Given the description of an element on the screen output the (x, y) to click on. 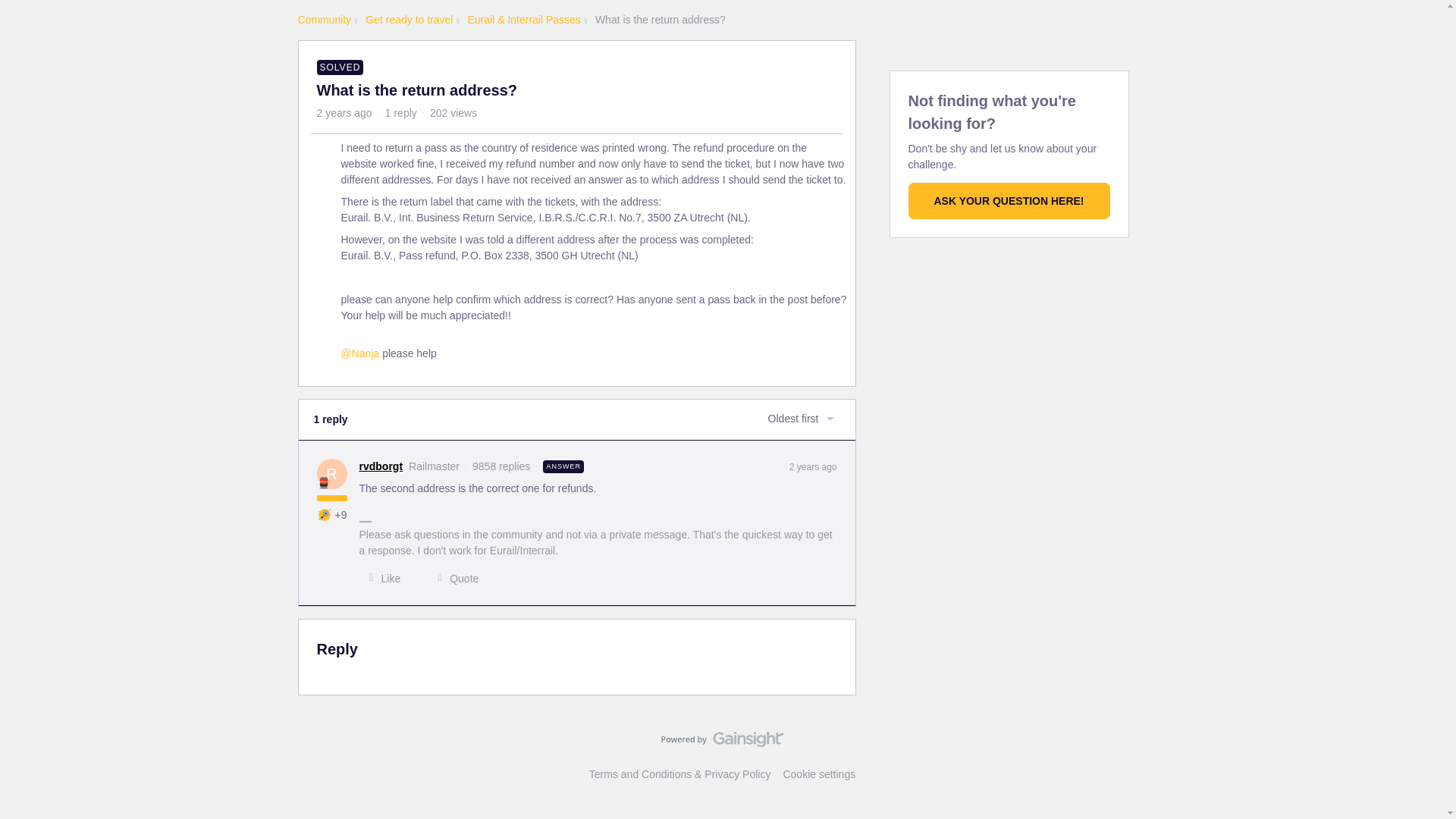
rvdborgt (381, 465)
Railmaster (323, 481)
Cookie settings (818, 774)
R (332, 472)
Like (380, 577)
ASK YOUR QUESTION HERE! (1008, 200)
Curious mind (324, 513)
Quote (453, 577)
Community (323, 19)
Get ready to travel (408, 19)
